Given the description of an element on the screen output the (x, y) to click on. 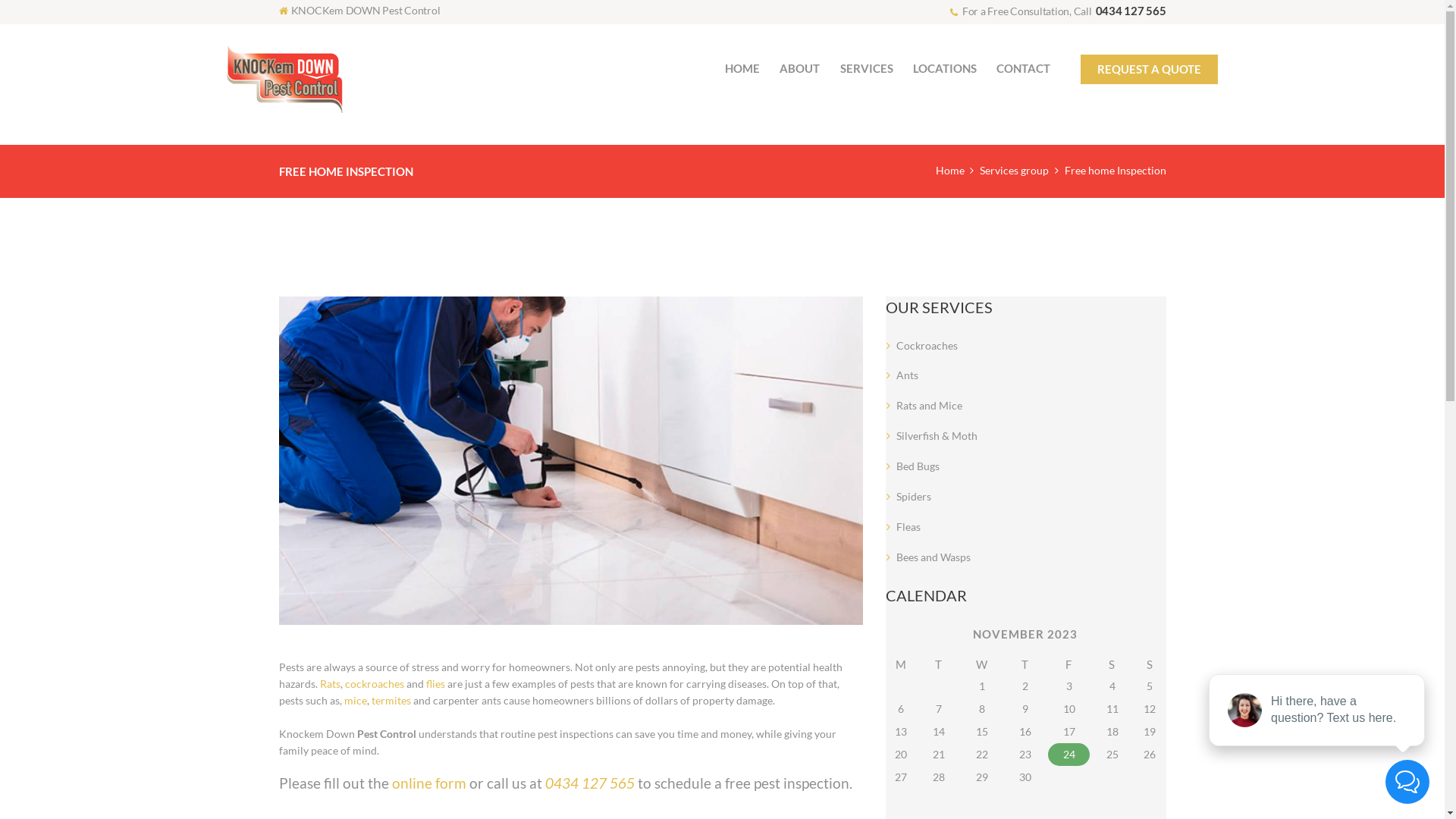
Bed Bugs Element type: text (917, 465)
cockroaches Element type: text (373, 683)
HOME Element type: text (742, 68)
online form Element type: text (428, 782)
Services group Element type: text (1013, 170)
Rats and Mice Element type: text (929, 404)
ABOUT Element type: text (799, 68)
CONTACT Element type: text (1023, 68)
Rats Element type: text (330, 683)
Fleas Element type: text (908, 526)
0434 127 565 Element type: text (588, 782)
SERVICES Element type: text (866, 68)
Home Element type: text (949, 170)
Bees and Wasps Element type: text (933, 556)
termites Element type: text (391, 699)
0434 127 565 Element type: text (1130, 10)
Spiders Element type: text (913, 495)
flies Element type: text (435, 683)
Free home Inspection Element type: hover (570, 460)
Ants Element type: text (907, 374)
LOCATIONS Element type: text (944, 68)
mice Element type: text (355, 699)
REQUEST A QUOTE Element type: text (1148, 69)
Cockroaches Element type: text (926, 344)
Silverfish & Moth Element type: text (936, 435)
